Given the description of an element on the screen output the (x, y) to click on. 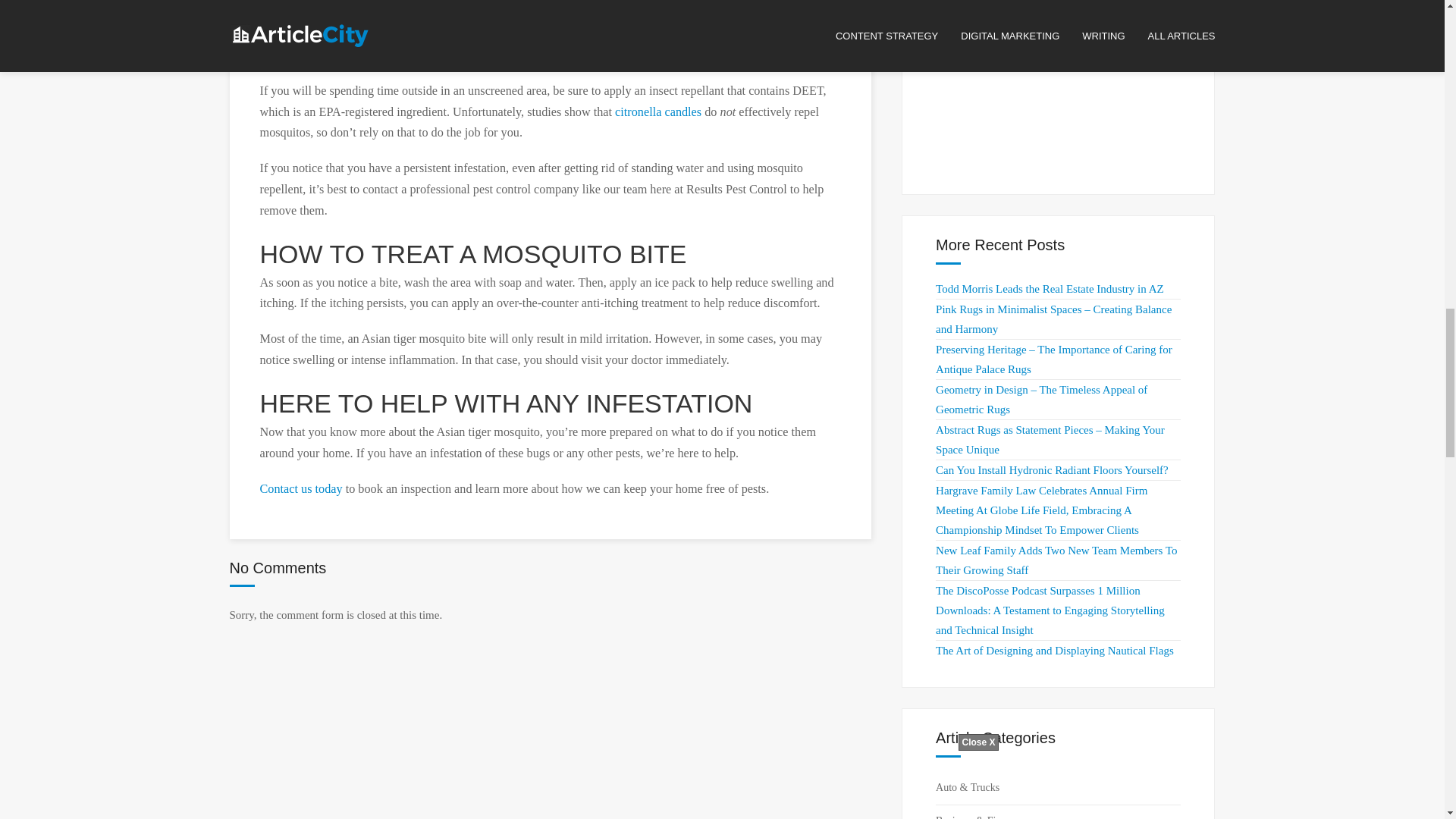
Contact us today (300, 489)
citronella candles (657, 111)
Todd Morris Leads the Real Estate Industry in AZ (1049, 288)
